Given the description of an element on the screen output the (x, y) to click on. 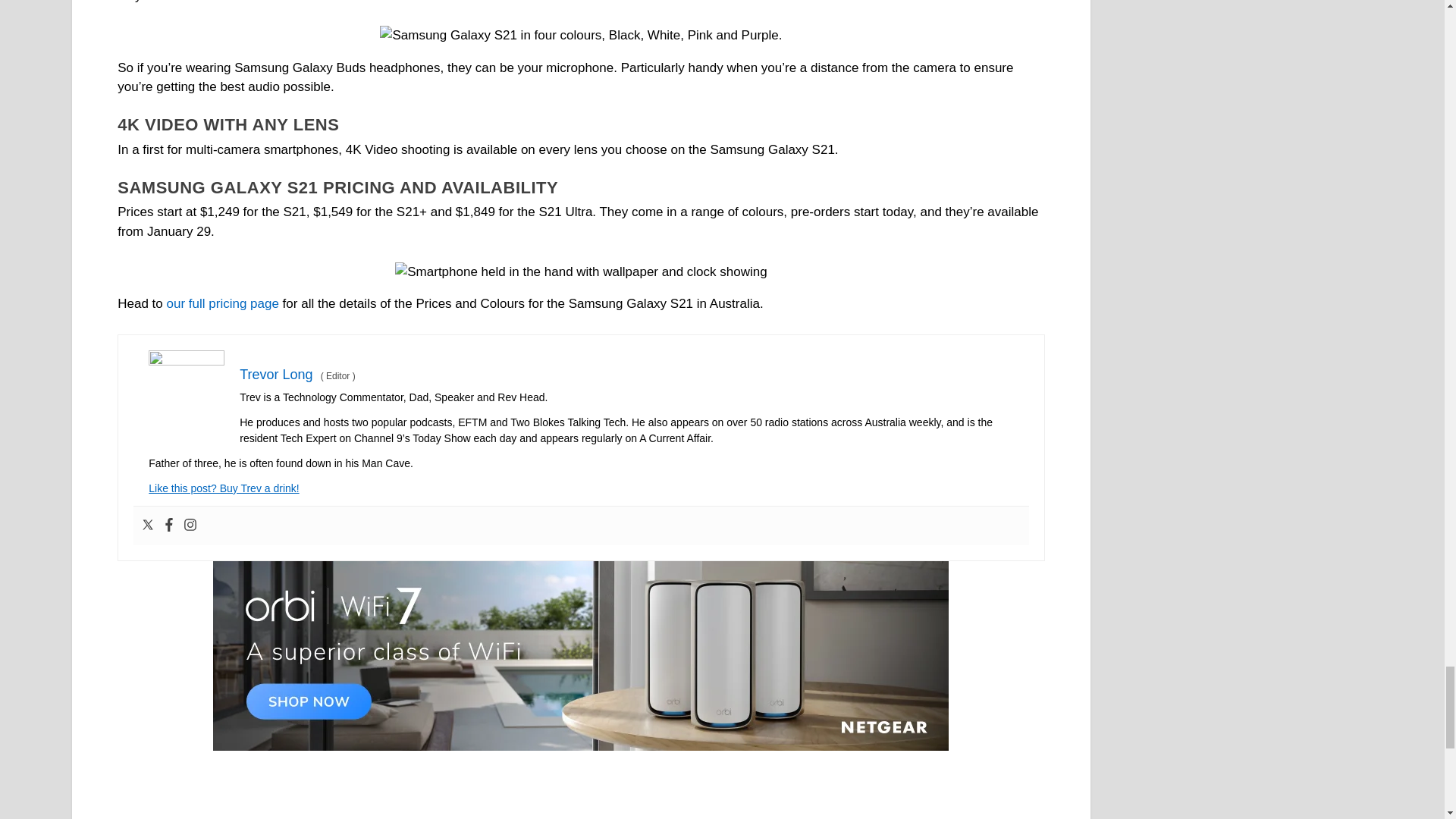
our full pricing page (223, 303)
Trevor Long (276, 374)
Like this post? Buy Trev a drink! (223, 488)
